Given the description of an element on the screen output the (x, y) to click on. 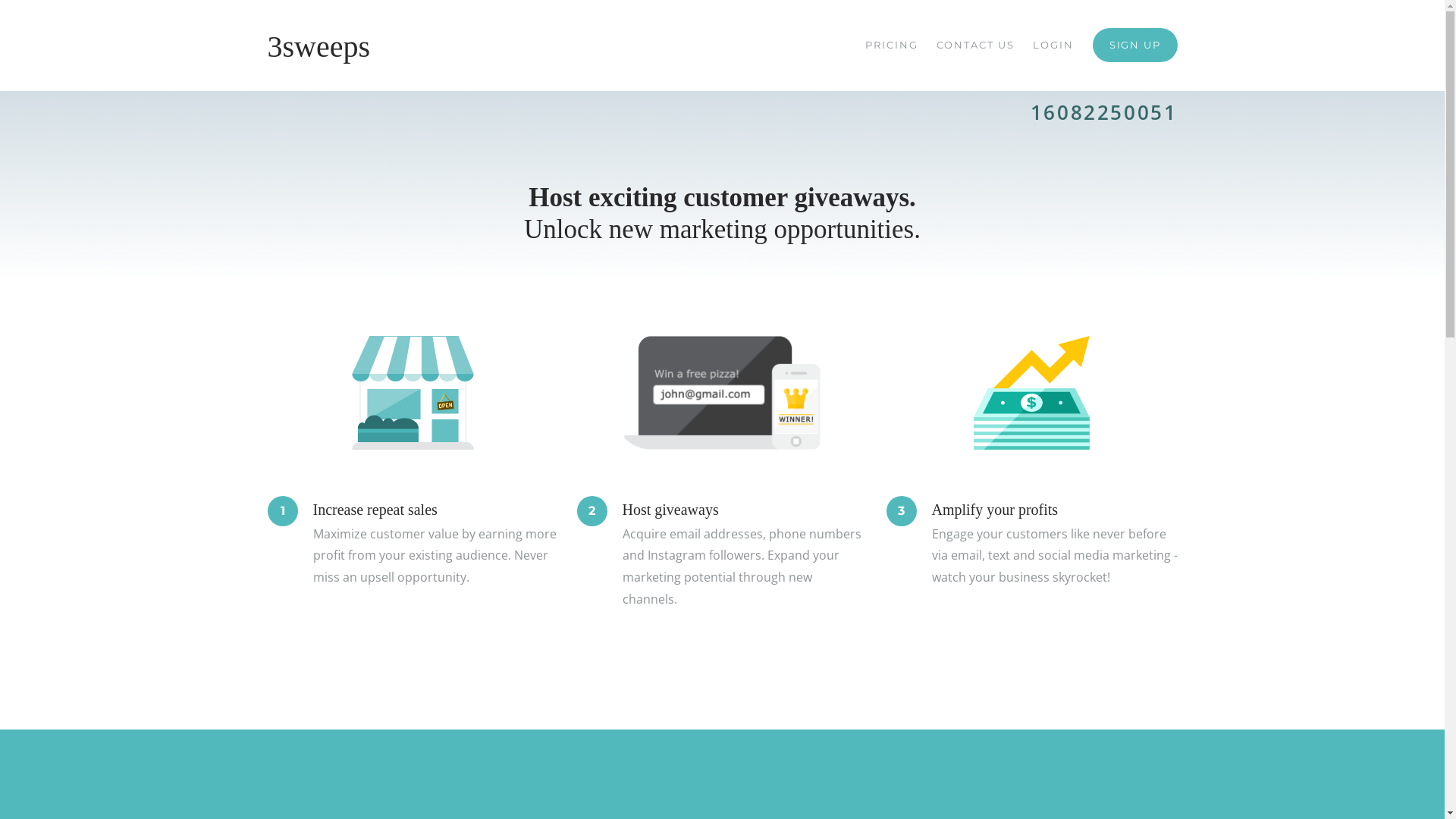
LOGIN Element type: text (1052, 45)
16082250051 Element type: text (1103, 111)
CONTACT US Element type: text (974, 45)
3sweeps Element type: text (318, 46)
SIGN UP Element type: text (1134, 45)
PRICING Element type: text (891, 45)
